Given the description of an element on the screen output the (x, y) to click on. 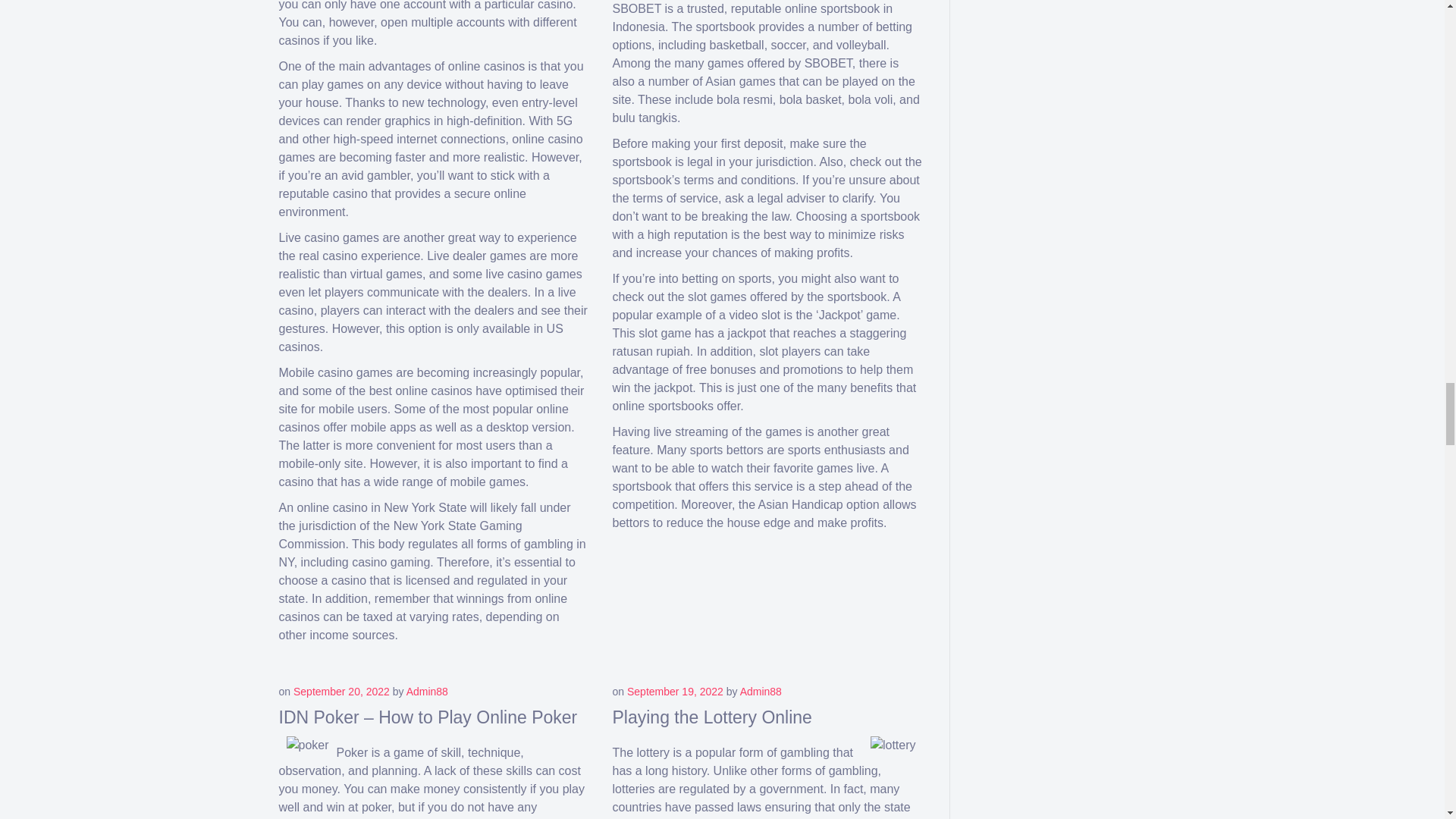
Playing the Lottery Online (712, 717)
Admin88 (427, 691)
September 20, 2022 (342, 691)
Admin88 (760, 691)
September 19, 2022 (675, 691)
